Given the description of an element on the screen output the (x, y) to click on. 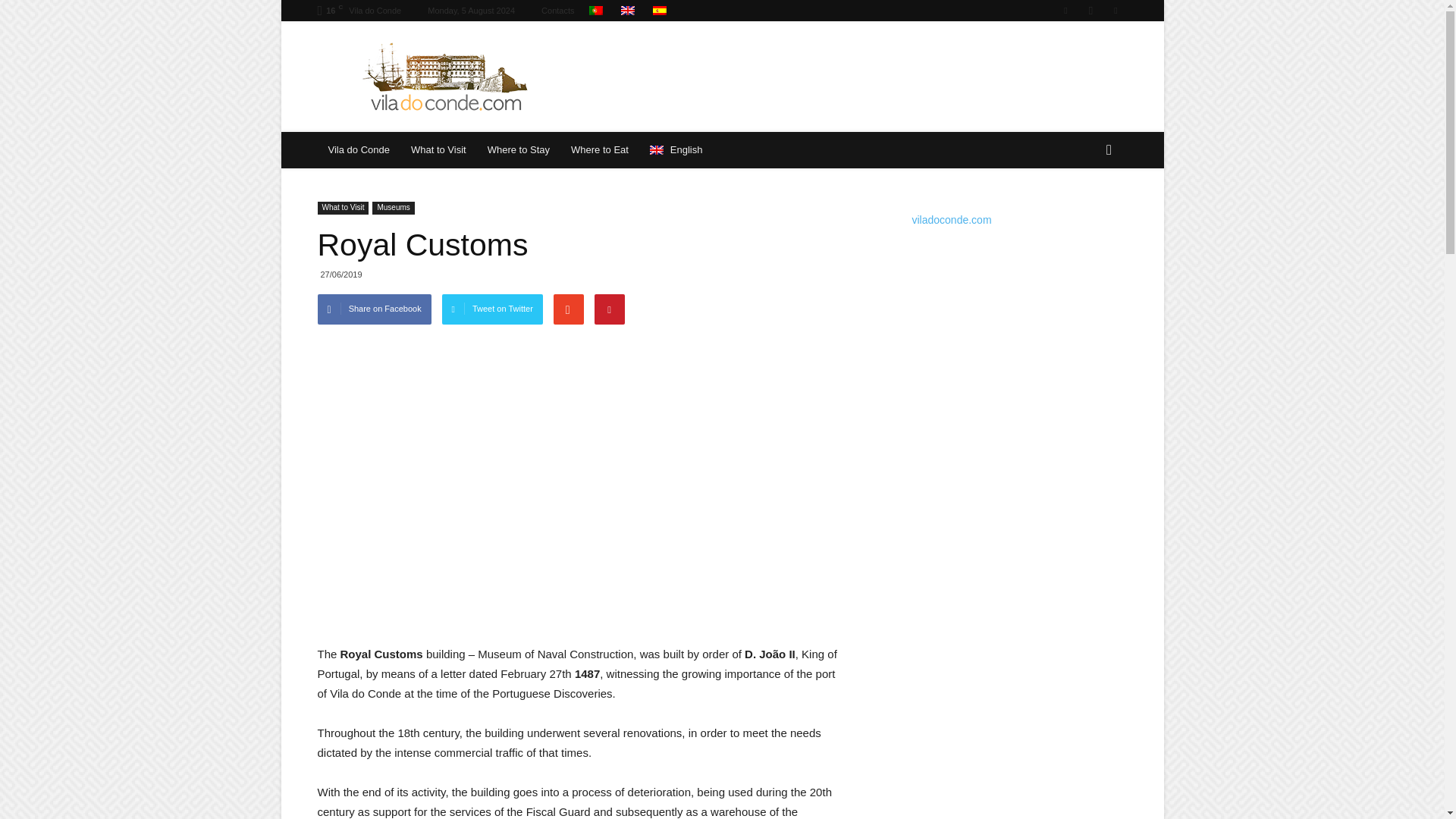
Instagram (1090, 10)
Share on Facebook (373, 309)
English (627, 10)
Facebook (1065, 10)
Contacts (557, 10)
Where to Eat (599, 149)
Museums (392, 207)
What to Visit (342, 207)
What to Visit (438, 149)
English (676, 149)
Where to Stay (518, 149)
English (676, 149)
Vila do Conde (357, 149)
Search (1085, 210)
Twitter (1114, 10)
